Given the description of an element on the screen output the (x, y) to click on. 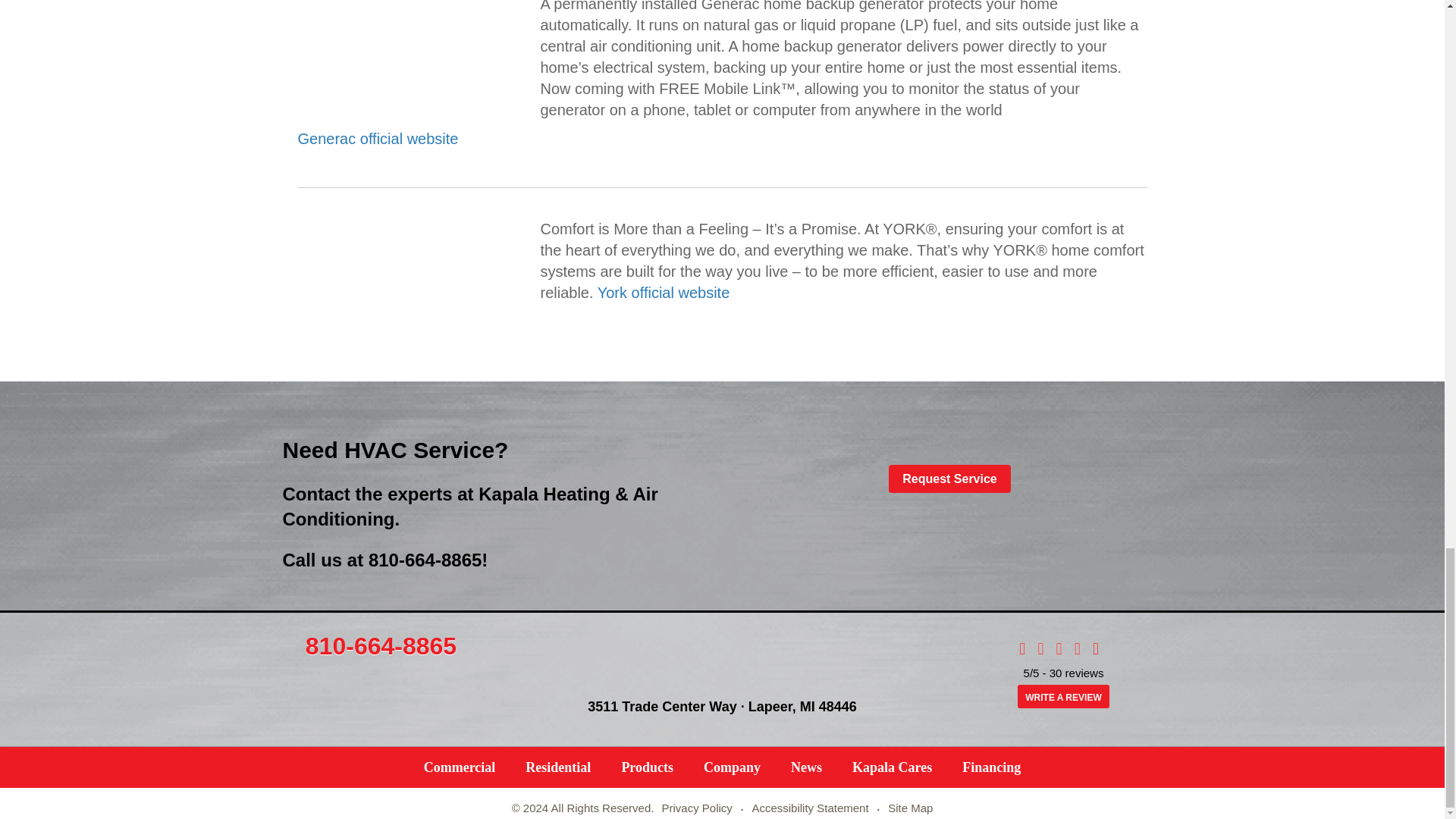
KAP-Logo (721, 658)
